Given the description of an element on the screen output the (x, y) to click on. 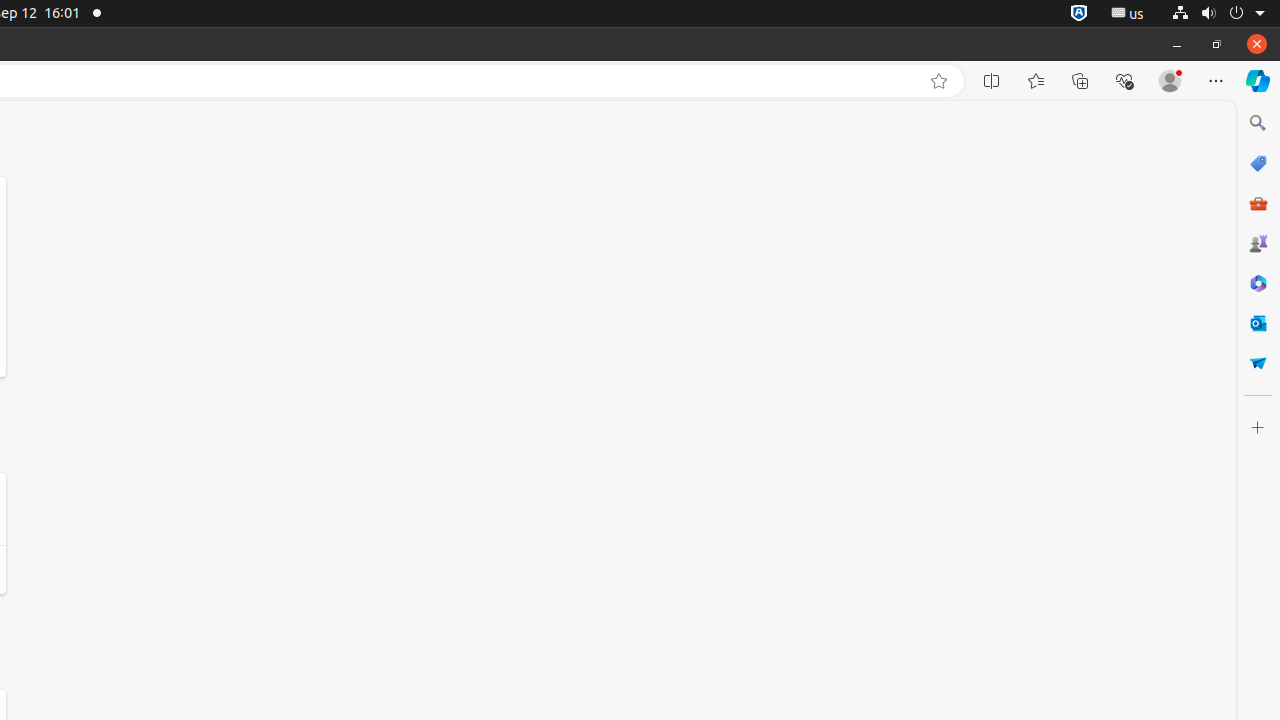
Collections Element type: push-button (1080, 81)
Add this page to favorites (Ctrl+D) Element type: push-button (939, 81)
:1.21/StatusNotifierItem Element type: menu (1127, 13)
Split screen Element type: push-button (992, 81)
:1.72/StatusNotifierItem Element type: menu (1079, 13)
